Given the description of an element on the screen output the (x, y) to click on. 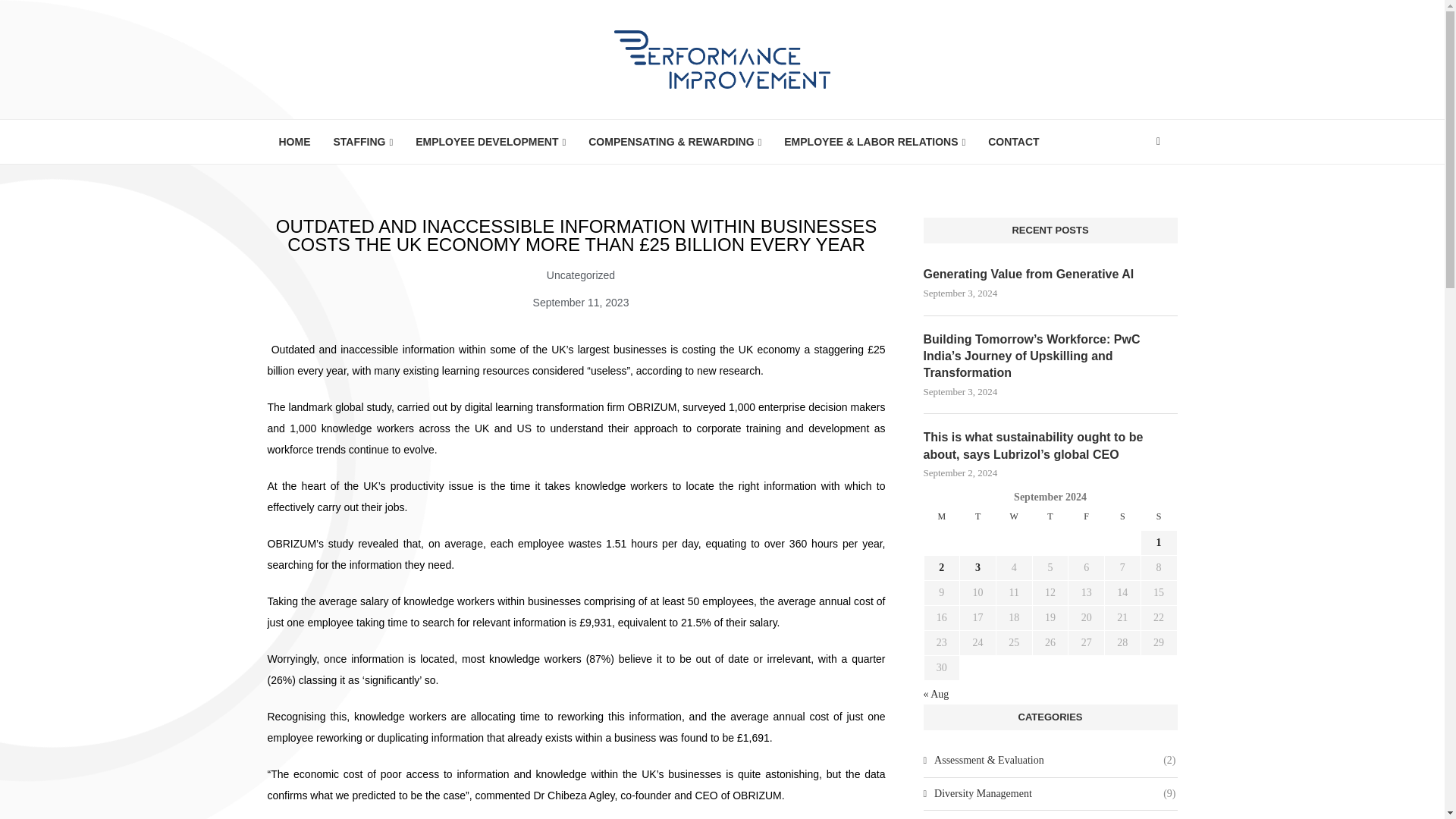
Uncategorized (580, 275)
Monday (941, 520)
STAFFING (363, 141)
Tuesday (977, 520)
September 11, 2023 (576, 302)
Generating Value from Generative AI (1050, 274)
Wednesday (1013, 520)
CONTACT (1013, 141)
Generating Value from Generative AI (1050, 274)
EMPLOYEE DEVELOPMENT (490, 141)
